Given the description of an element on the screen output the (x, y) to click on. 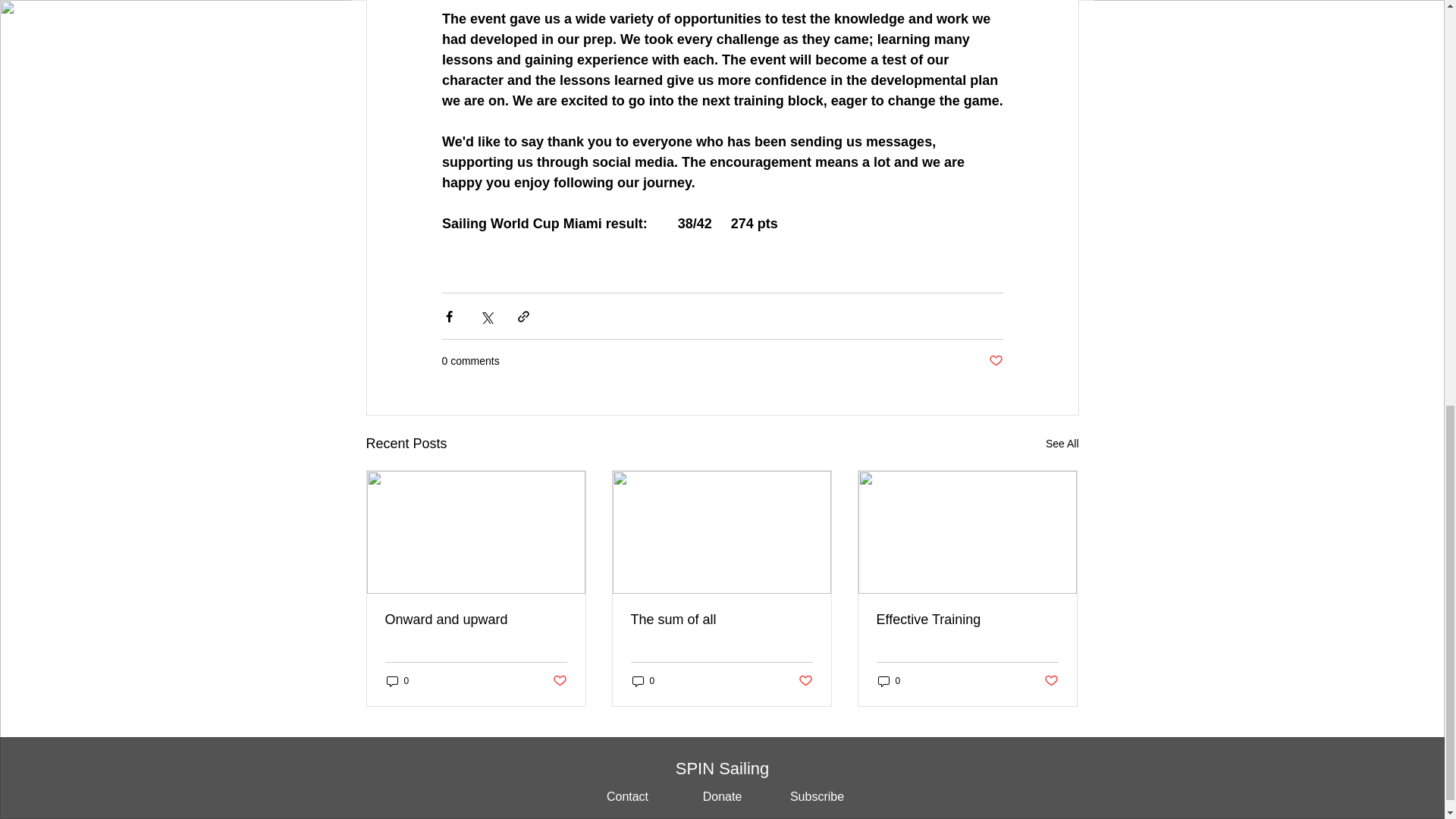
Post not marked as liked (995, 360)
0 (397, 681)
Effective Training (967, 619)
0 (643, 681)
Donate (722, 796)
Post not marked as liked (558, 681)
The sum of all (721, 619)
Contact (626, 796)
Onward and upward (476, 619)
Subscribe (815, 796)
